Given the description of an element on the screen output the (x, y) to click on. 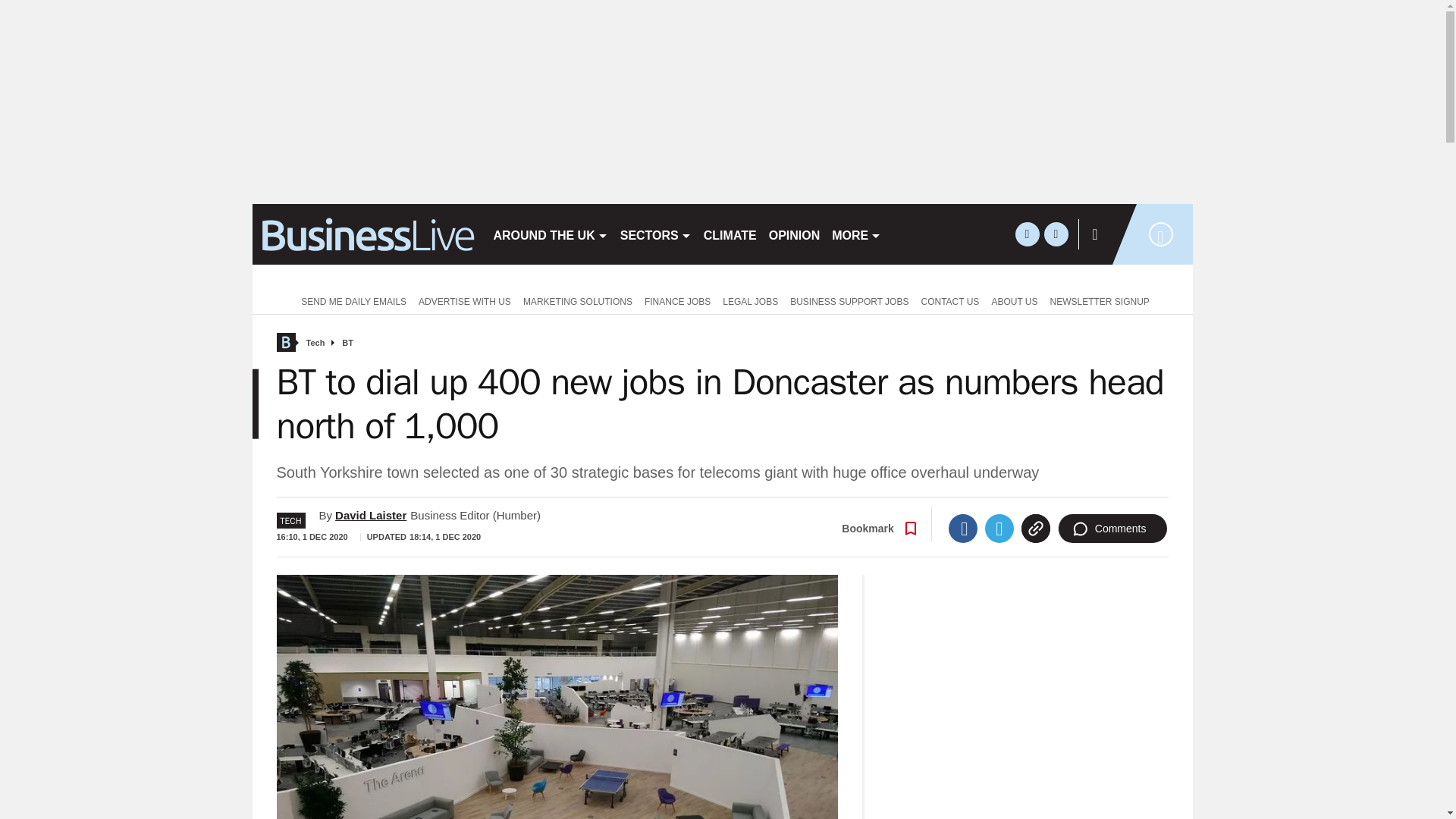
MORE (855, 233)
AROUND THE UK (549, 233)
SECTORS (655, 233)
CLIMATE (729, 233)
FINANCE JOBS (677, 300)
ADVERTISE WITH US (464, 300)
Comments (1112, 528)
LEGAL JOBS (750, 300)
Facebook (962, 528)
linkedin (1055, 233)
MARKETING SOLUTIONS (577, 300)
OPINION (794, 233)
Twitter (999, 528)
SEND ME DAILY EMAILS (350, 300)
twitter (1026, 233)
